Given the description of an element on the screen output the (x, y) to click on. 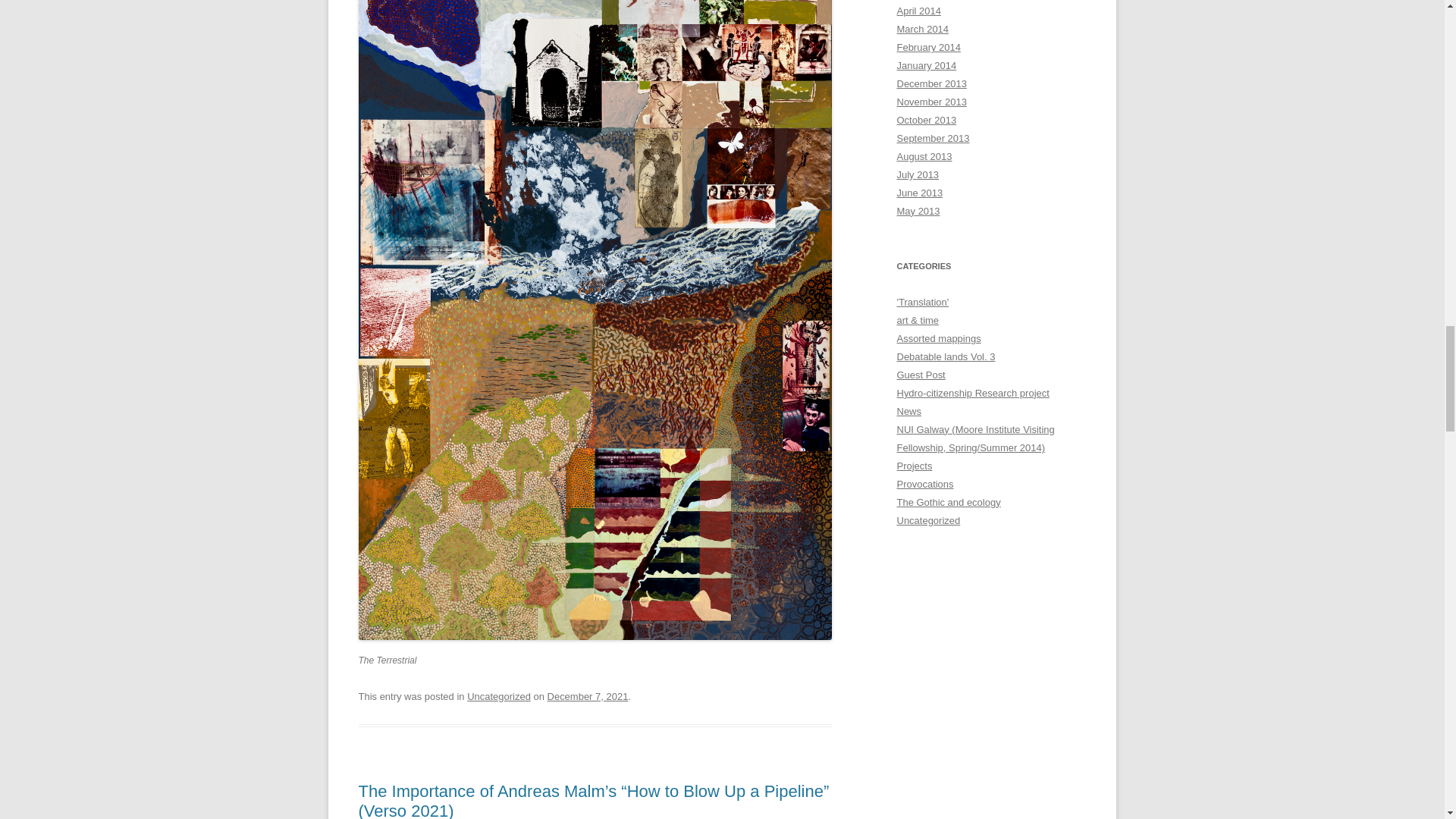
4:58 pm (587, 696)
